Given the description of an element on the screen output the (x, y) to click on. 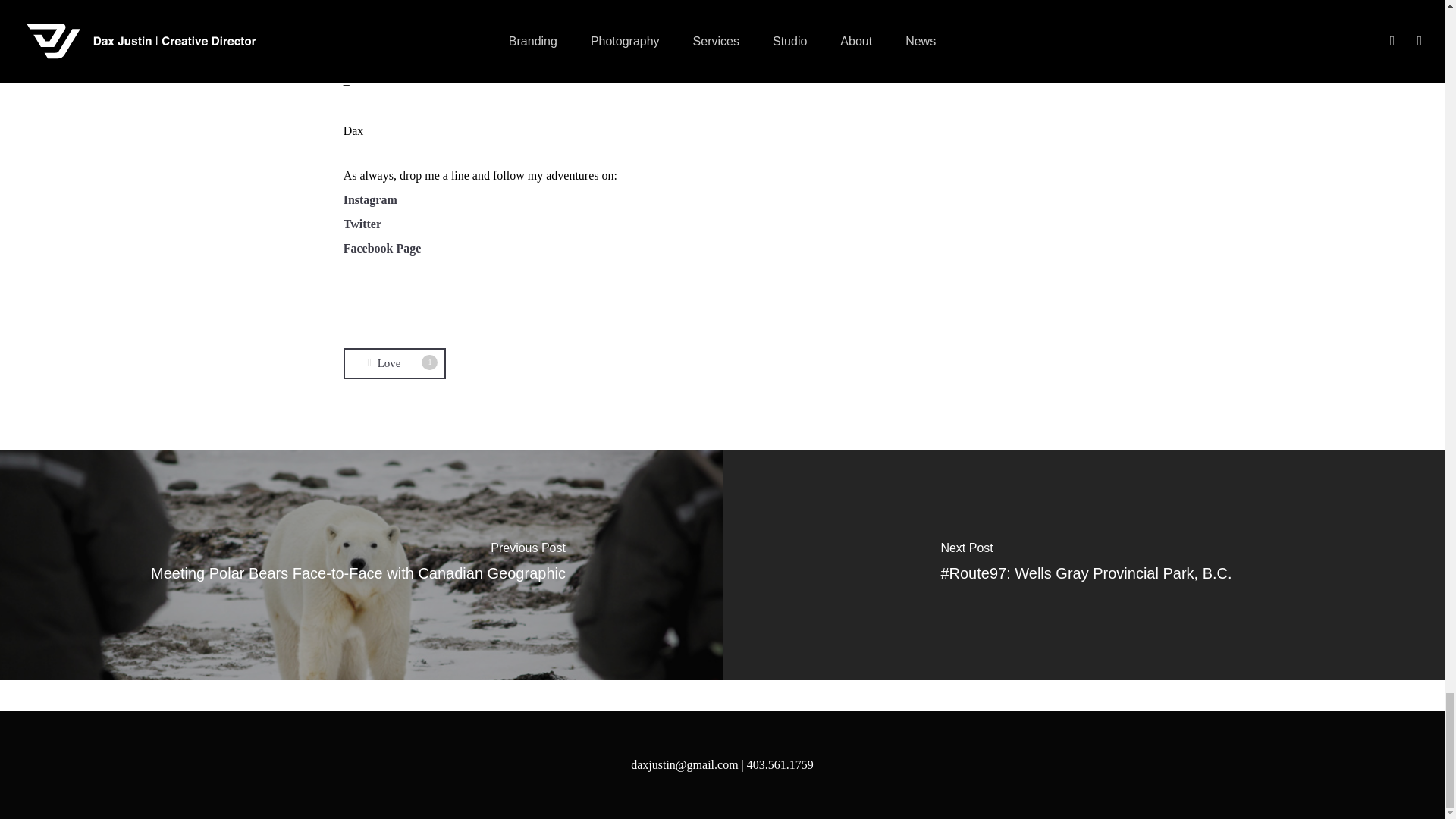
Love this (393, 363)
Instagram (393, 363)
Facebook Page (370, 199)
Twitter (382, 247)
